Given the description of an element on the screen output the (x, y) to click on. 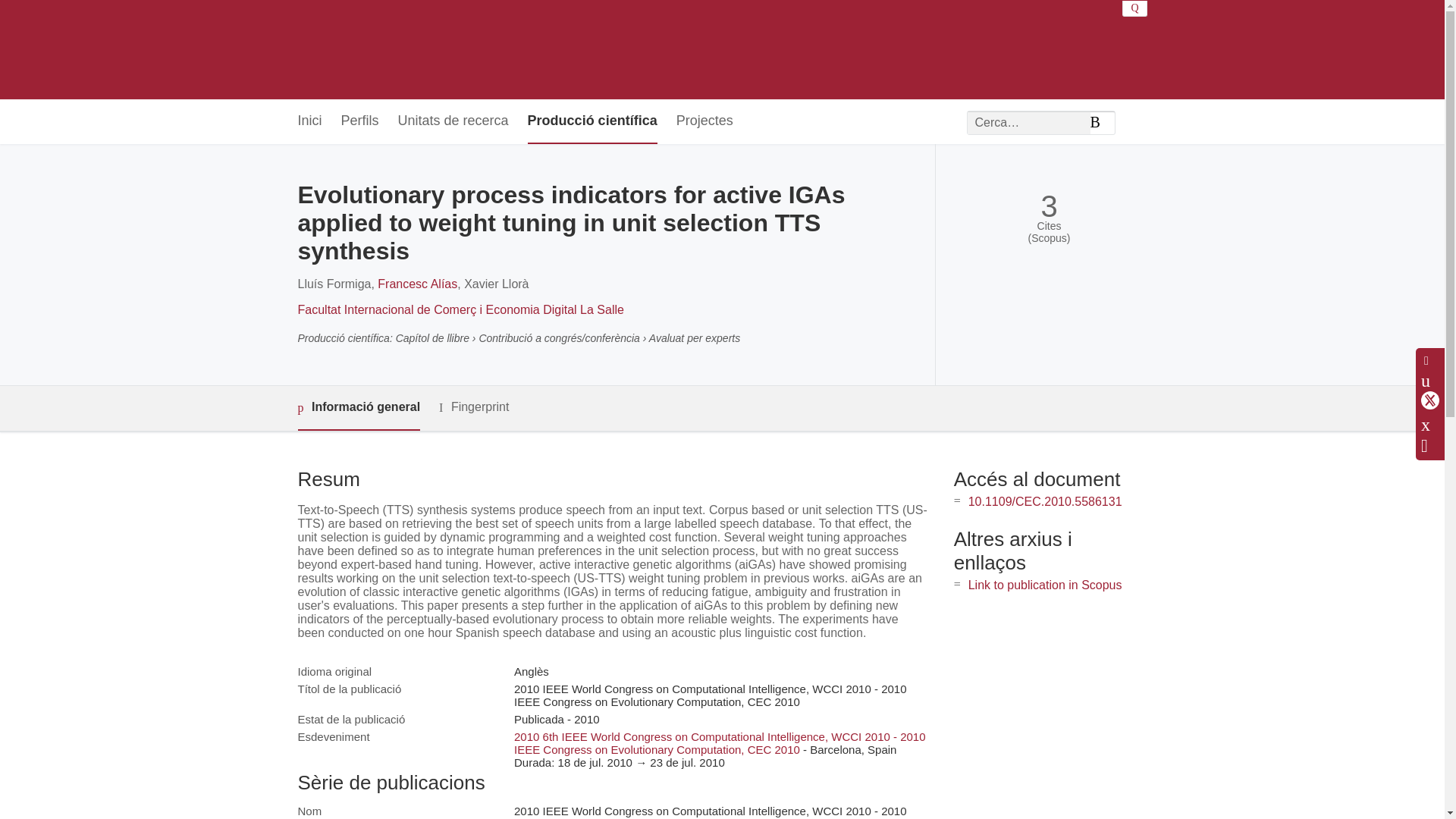
Projectes (705, 121)
Universitat Ramon Llull Inici (487, 49)
Fingerprint (473, 407)
Link to publication in Scopus (1045, 584)
Unitats de recerca (452, 121)
